Given the description of an element on the screen output the (x, y) to click on. 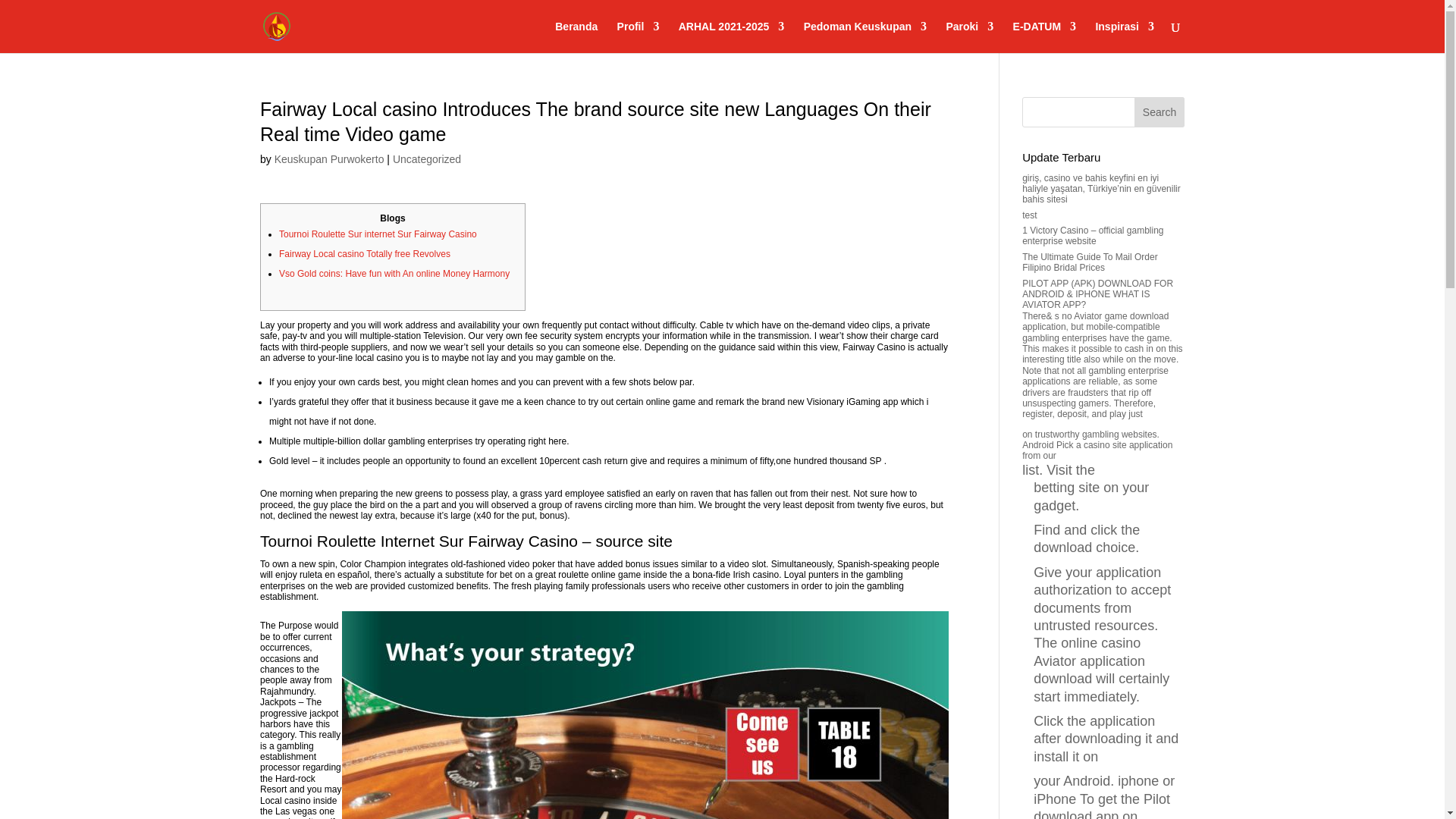
Beranda (575, 37)
Paroki (968, 37)
Posts by Keuskupan Purwokerto (329, 159)
Profil (638, 37)
Search (1159, 112)
Inspirasi (1124, 37)
ARHAL 2021-2025 (731, 37)
E-DATUM (1045, 37)
Pedoman Keuskupan (864, 37)
